Given the description of an element on the screen output the (x, y) to click on. 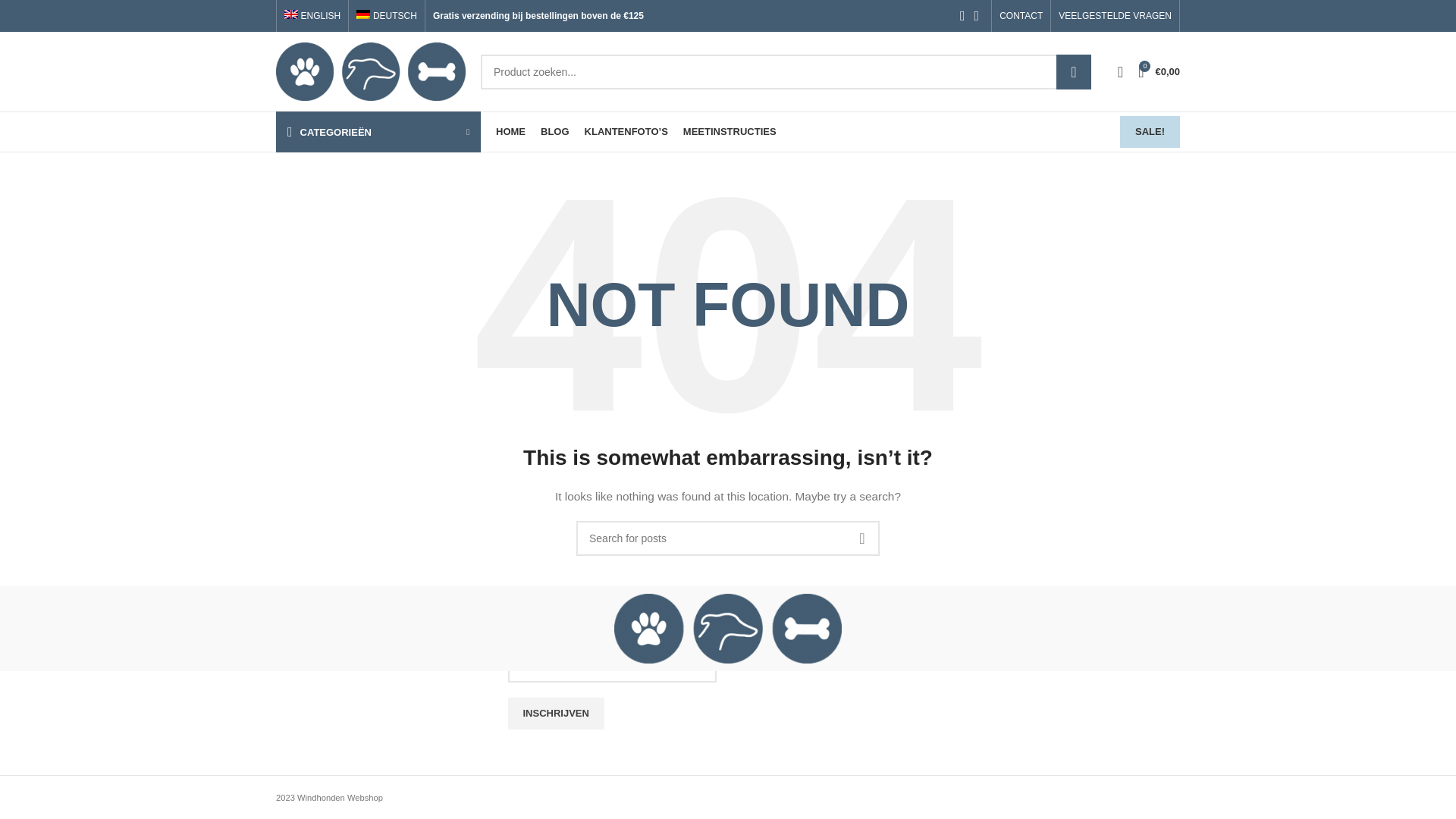
Product zoeken... (785, 71)
SALE! (1149, 132)
MEETINSTRUCTIES (729, 132)
Verzendkosten (311, 488)
HOME (510, 132)
VEELGESTELDE VRAGEN (1115, 15)
BLOG (554, 132)
Search for posts (727, 538)
Deutsch (386, 15)
ENGLISH (311, 15)
